Given the description of an element on the screen output the (x, y) to click on. 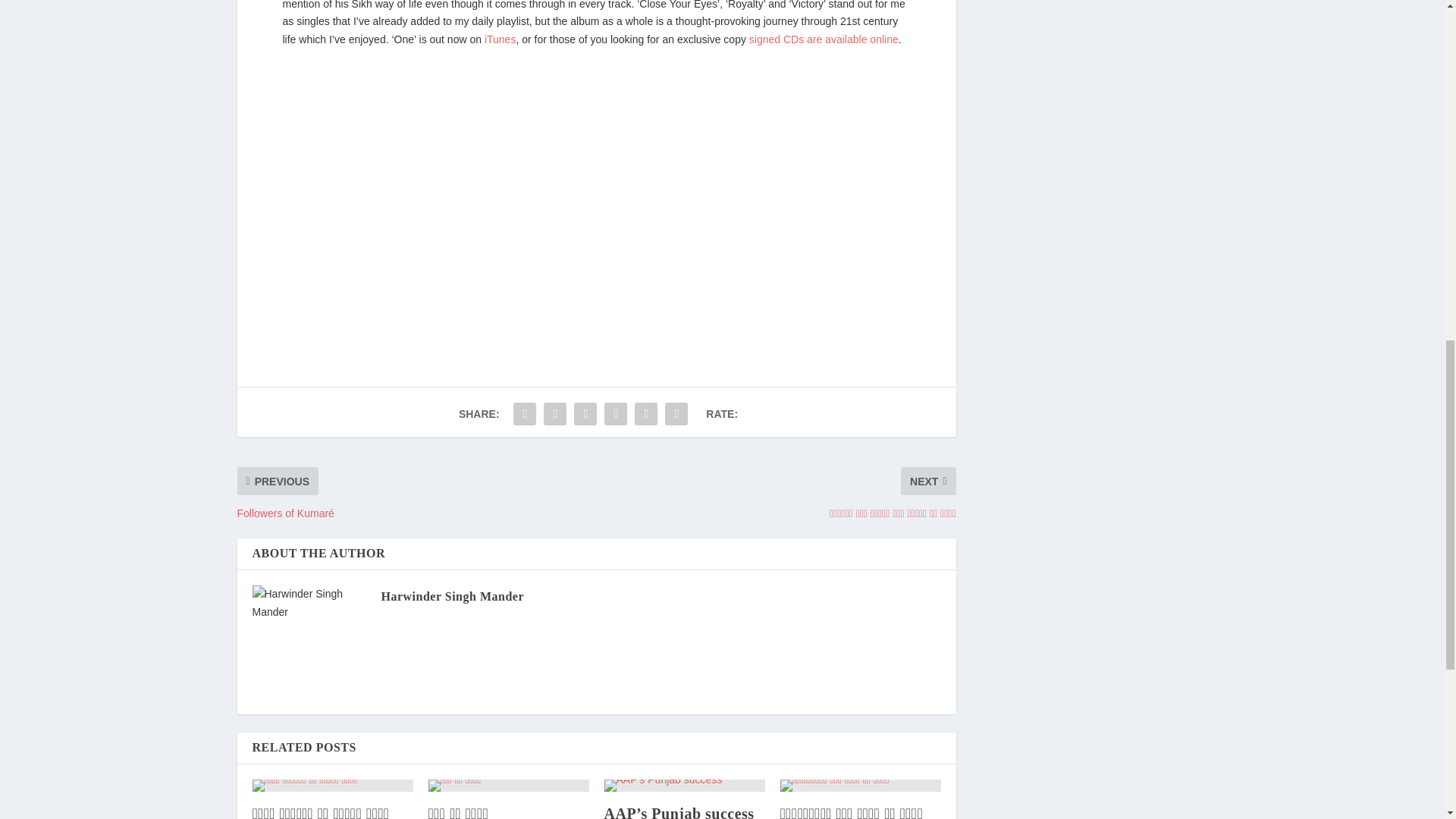
View all posts by Harwinder Singh Mander (452, 595)
Harwinder Singh Mander (452, 595)
iTunes (500, 39)
signed CDs are available online (823, 39)
